Given the description of an element on the screen output the (x, y) to click on. 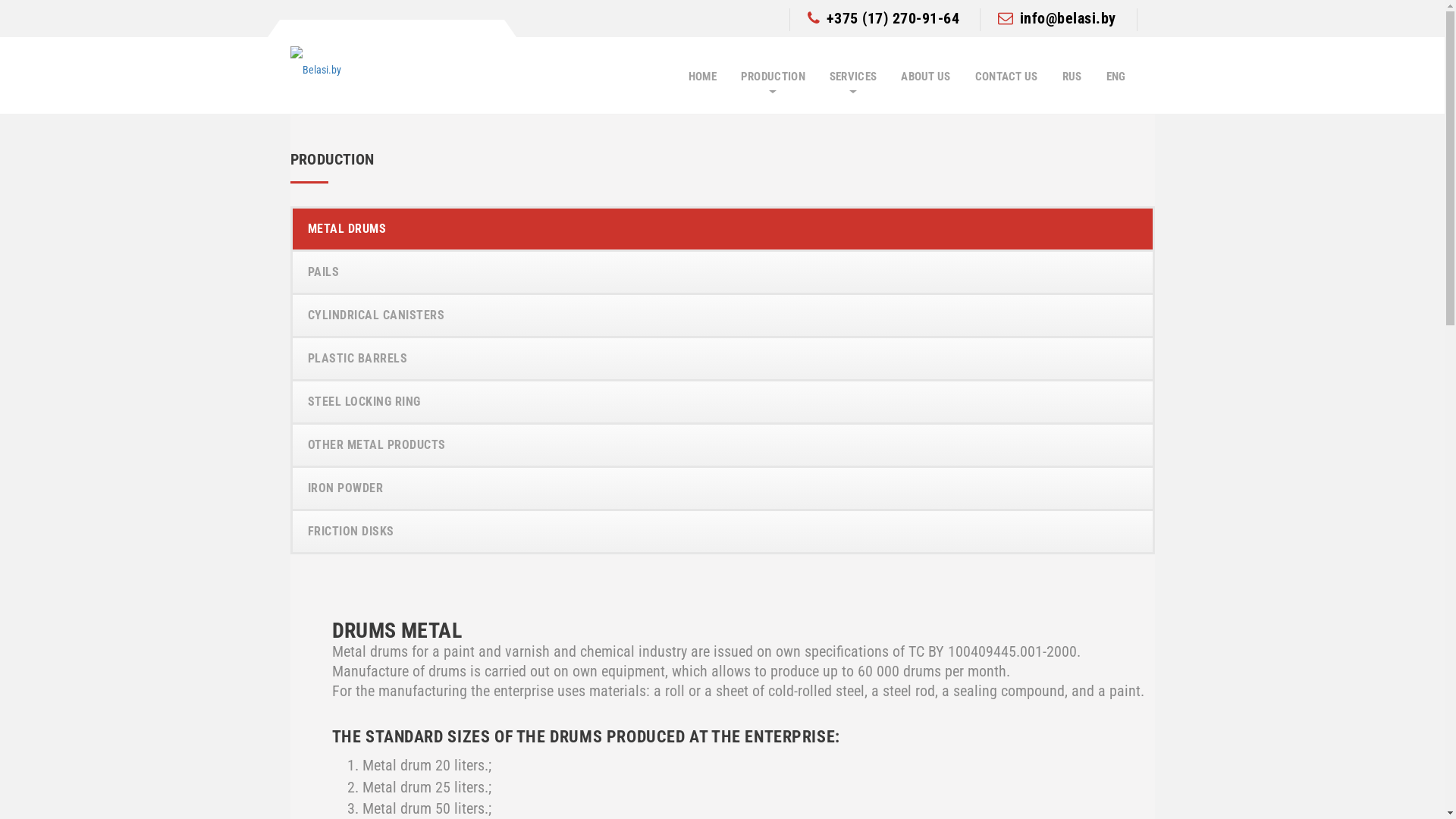
STEEL LOCKING RING Element type: text (722, 401)
METAL DRUMS Element type: text (722, 228)
SERVICES Element type: text (852, 76)
OTHER METAL PRODUCTS Element type: text (722, 444)
+375 (17) 270-91-64 Element type: text (883, 18)
info@belasi.by Element type: text (1056, 18)
ABOUT US Element type: text (925, 76)
ENG Element type: text (1116, 76)
PLASTIC BARRELS Element type: text (722, 358)
FRICTION DISKS Element type: text (722, 531)
HOME Element type: text (702, 76)
RUS Element type: text (1072, 76)
IRON POWDER Element type: text (722, 487)
CYLINDRICAL CANISTERS Element type: text (722, 314)
PAILS Element type: text (722, 271)
CONTACT US Element type: text (1006, 76)
PRODUCTION Element type: text (772, 76)
